Given the description of an element on the screen output the (x, y) to click on. 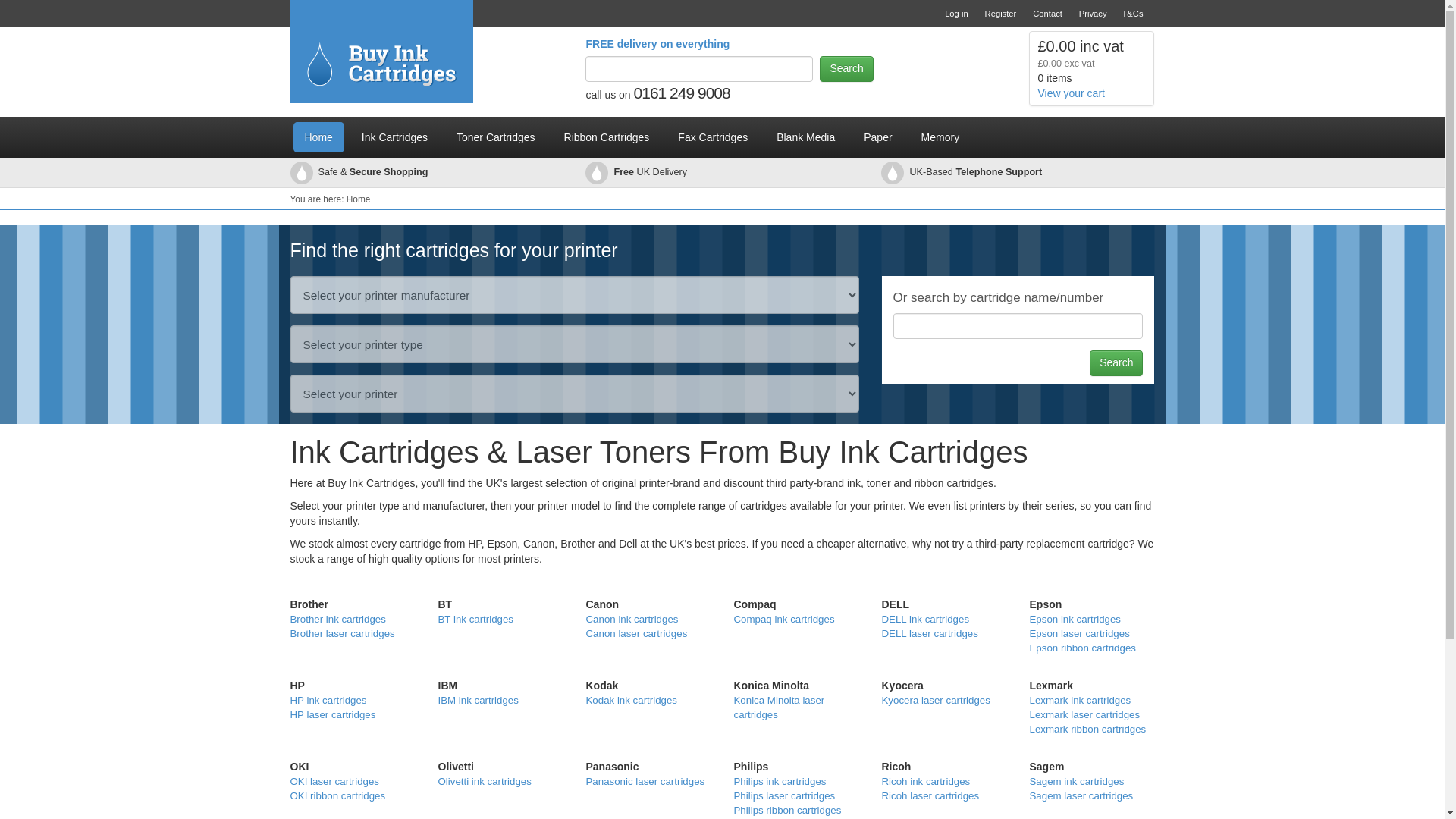
Blank Media (805, 137)
Olivetti ink cartridges (484, 781)
HP laser cartridges (332, 714)
Canon laser cartridges (636, 633)
Ink Cartridges (394, 137)
OKI ribbon cartridges (337, 795)
Fax Cartridges (712, 137)
Ribbon Cartridges (607, 137)
Kodak ink cartridges (631, 699)
Privacy (1093, 13)
Search (845, 68)
Epson ink cartridges (1075, 618)
Search (845, 68)
Canon ink cartridges (631, 618)
View your cart (1069, 92)
